Given the description of an element on the screen output the (x, y) to click on. 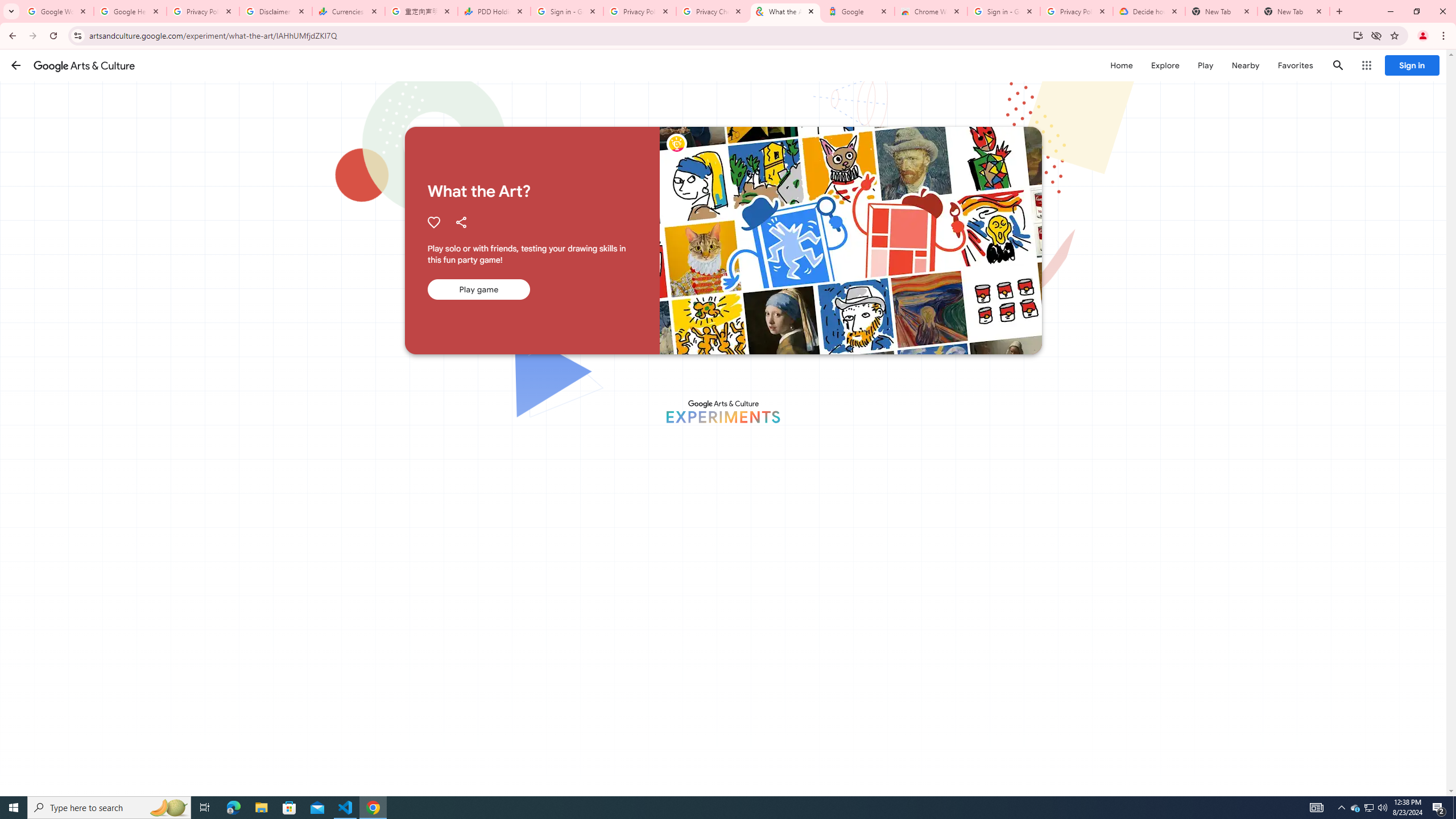
Google Workspace Admin Community (57, 11)
Google (857, 11)
PDD Holdings Inc - ADR (PDD) Price & News - Google Finance (493, 11)
Privacy Checkup (712, 11)
Close (1318, 11)
System (6, 6)
Bookmark this tab (1393, 35)
Share "What the Art?" (460, 221)
Restore (1416, 11)
Play game (477, 289)
Minimize (1390, 11)
Search (1338, 65)
Sign in (1411, 64)
